Given the description of an element on the screen output the (x, y) to click on. 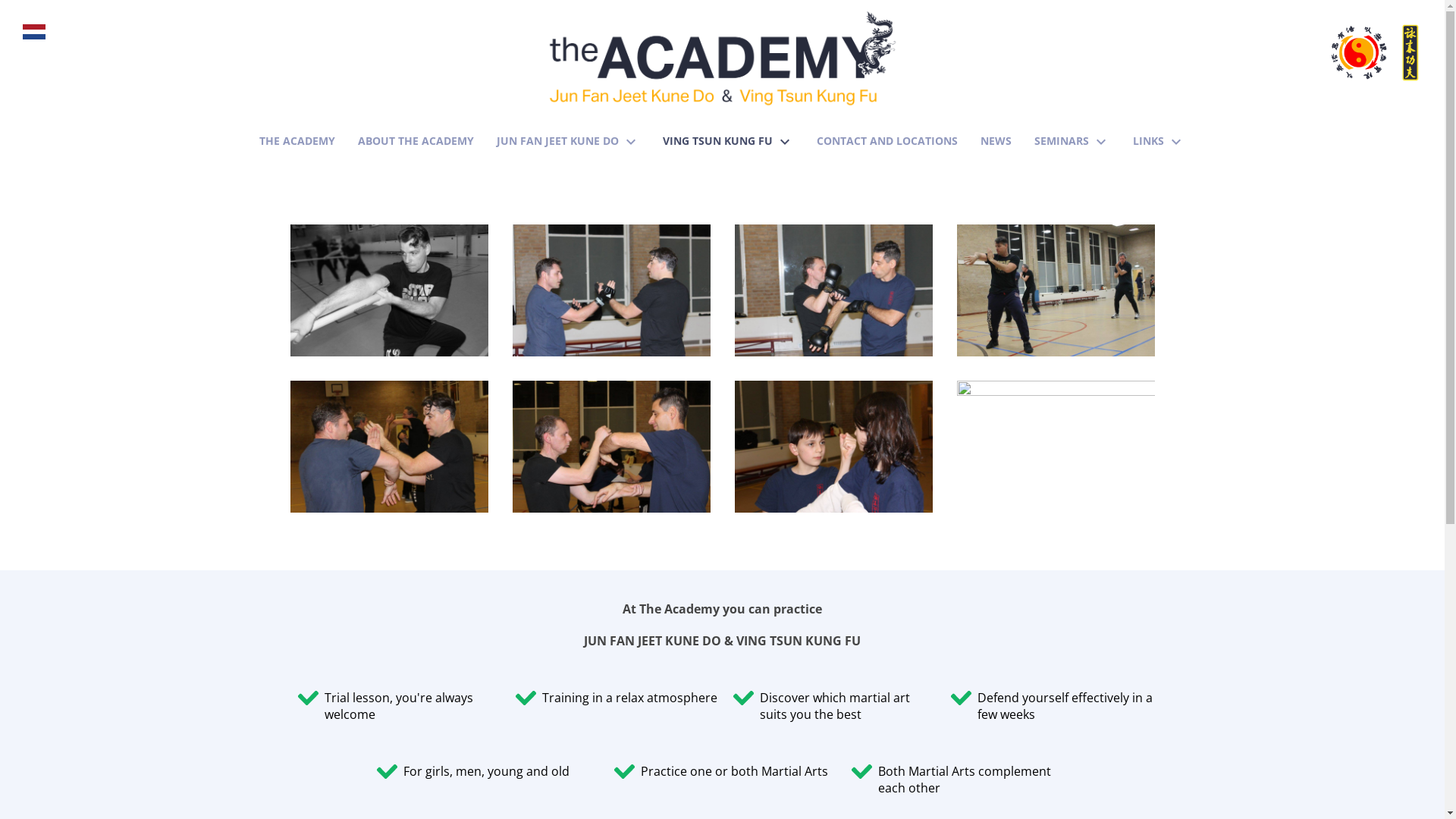
THE ACADEMY Element type: text (297, 138)
NEWS Element type: text (995, 138)
CONTACT AND LOCATIONS Element type: text (886, 138)
ABOUT THE ACADEMY Element type: text (415, 138)
